Given the description of an element on the screen output the (x, y) to click on. 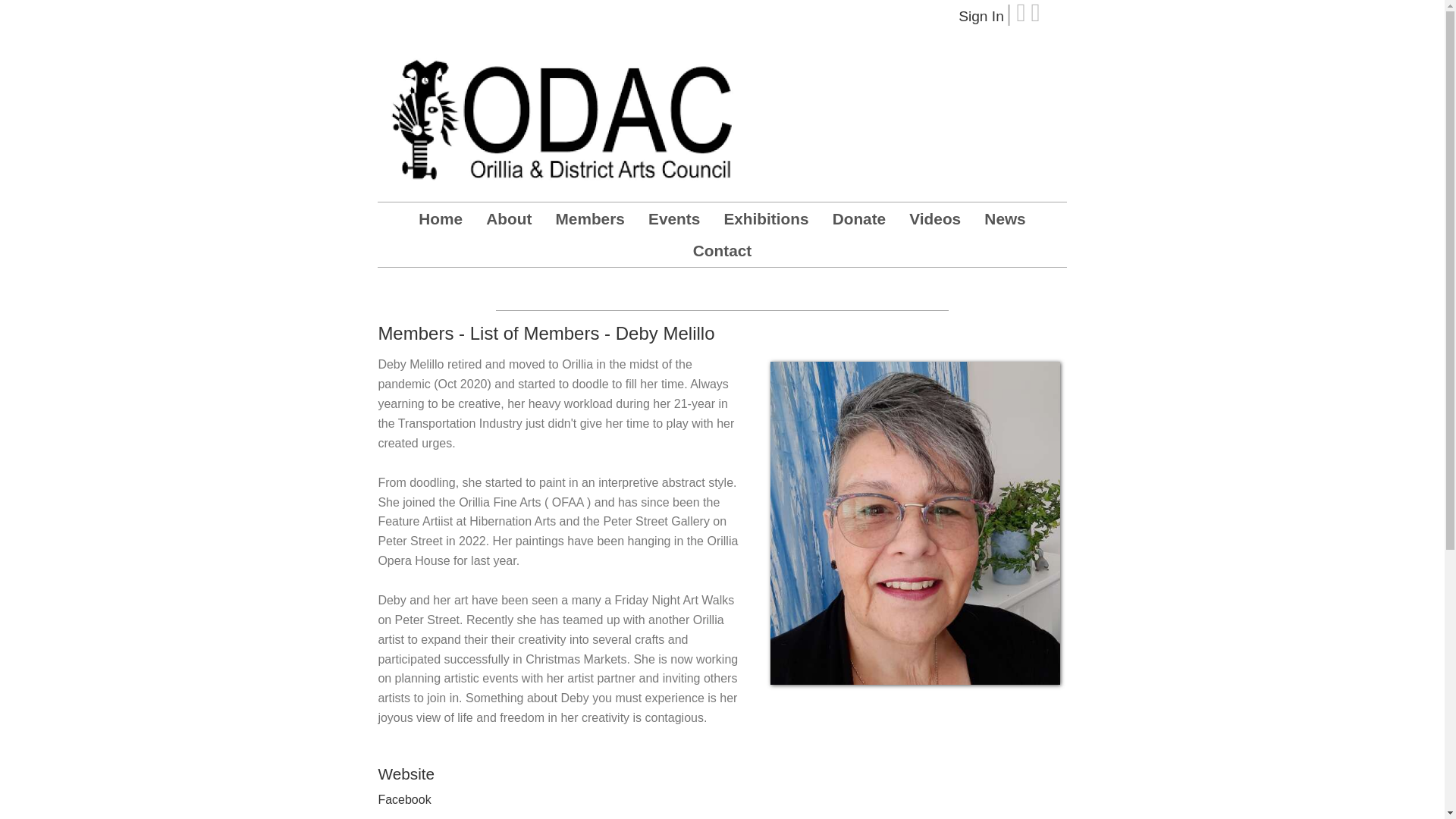
Videos (934, 218)
Artist Contract Templates (692, 294)
Donate (858, 218)
Home (441, 218)
Members (590, 218)
About (508, 218)
Contact (722, 250)
News (1004, 218)
Events (673, 218)
Sign In (981, 16)
List of Members (534, 332)
Exhibitions (765, 218)
Access for Members Only (862, 294)
Facebook (403, 799)
List of Members (552, 294)
